Given the description of an element on the screen output the (x, y) to click on. 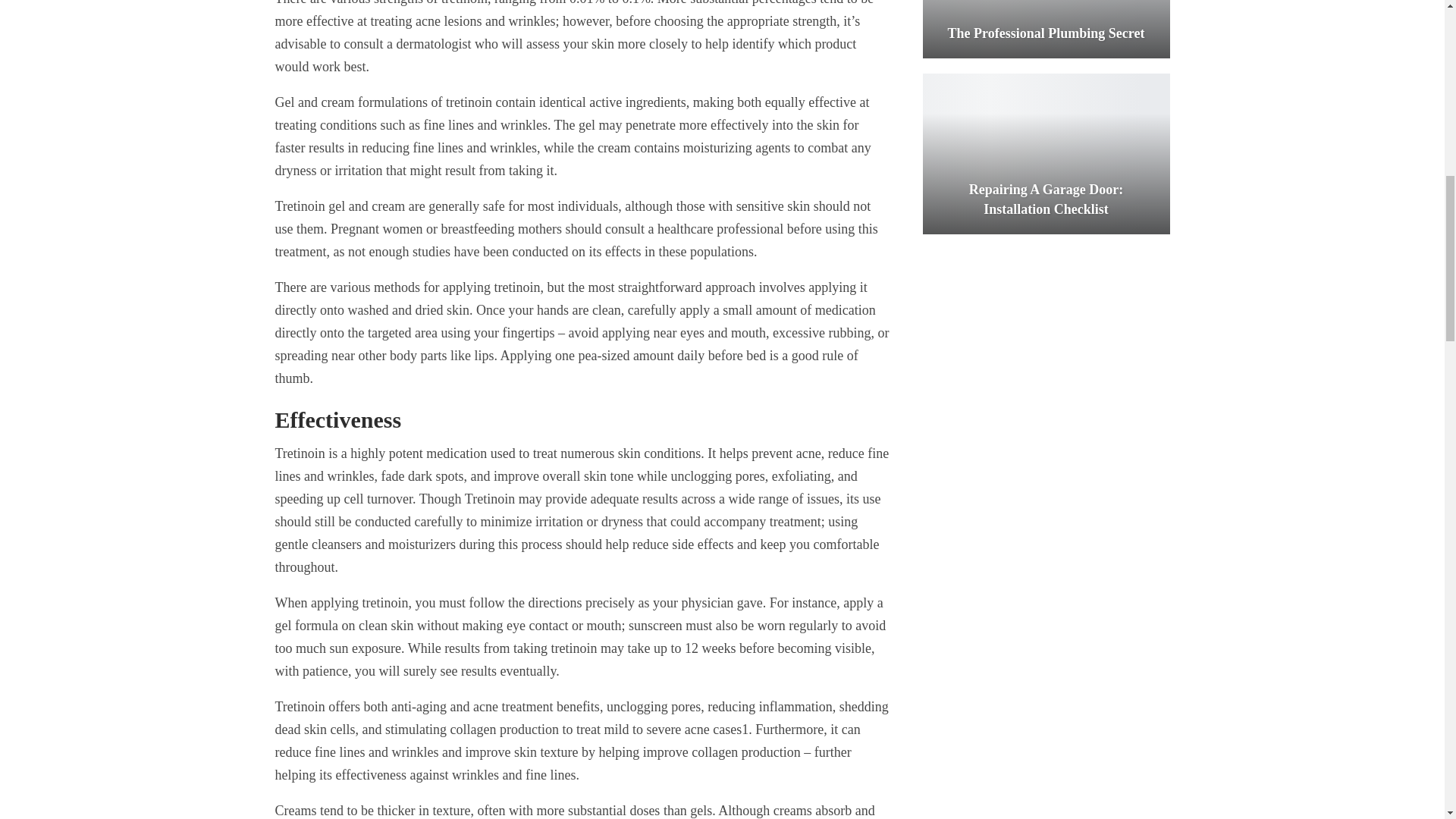
The Professional Plumbing Secret (1045, 29)
Repairing a Garage Door: Installation Checklist (1045, 153)
